Given the description of an element on the screen output the (x, y) to click on. 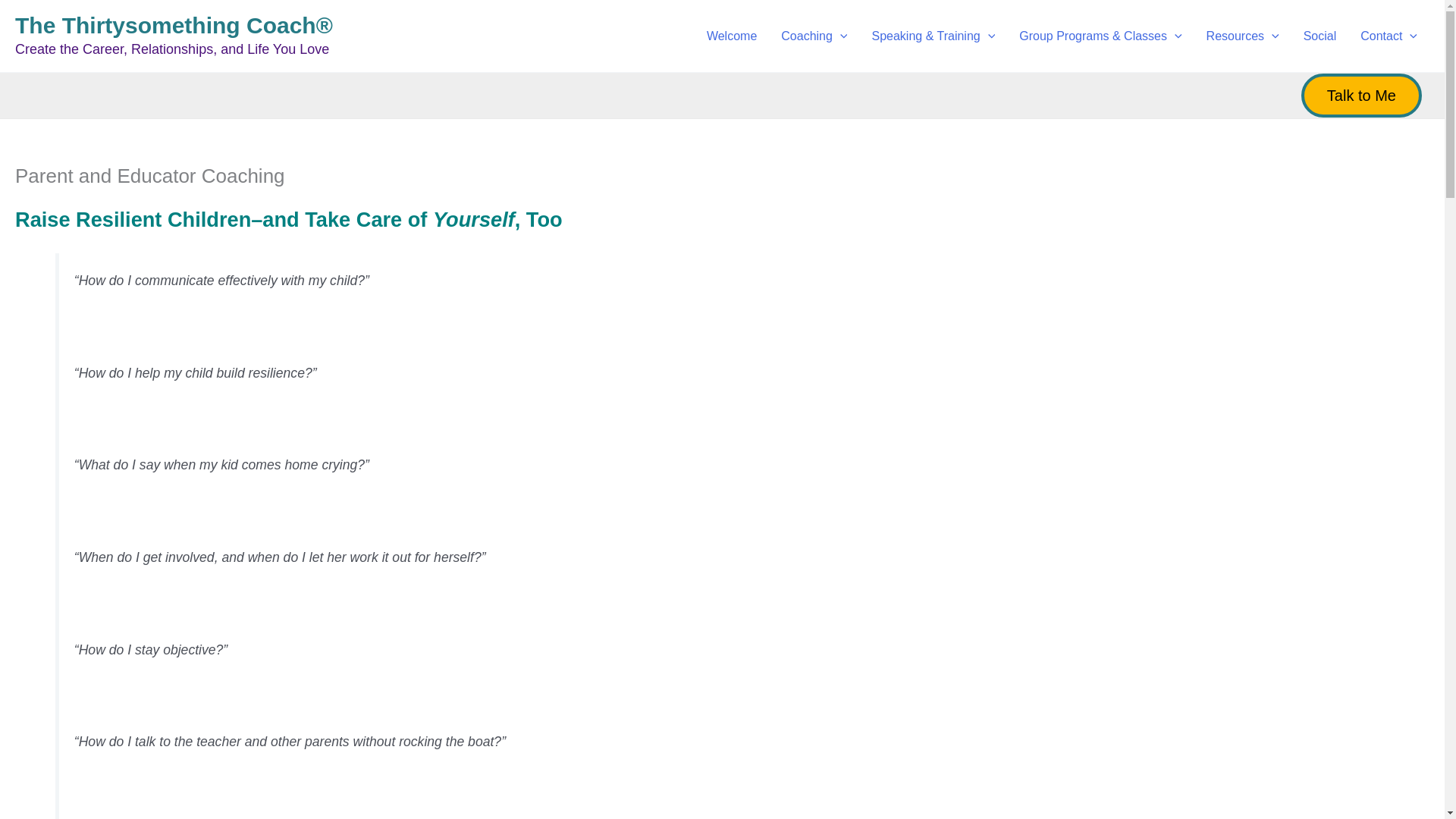
Welcome (731, 35)
Social (1320, 35)
Coaching (813, 35)
Welcome (731, 35)
Resources (1242, 35)
Contact (1388, 35)
Talk to Me (1361, 95)
